Given the description of an element on the screen output the (x, y) to click on. 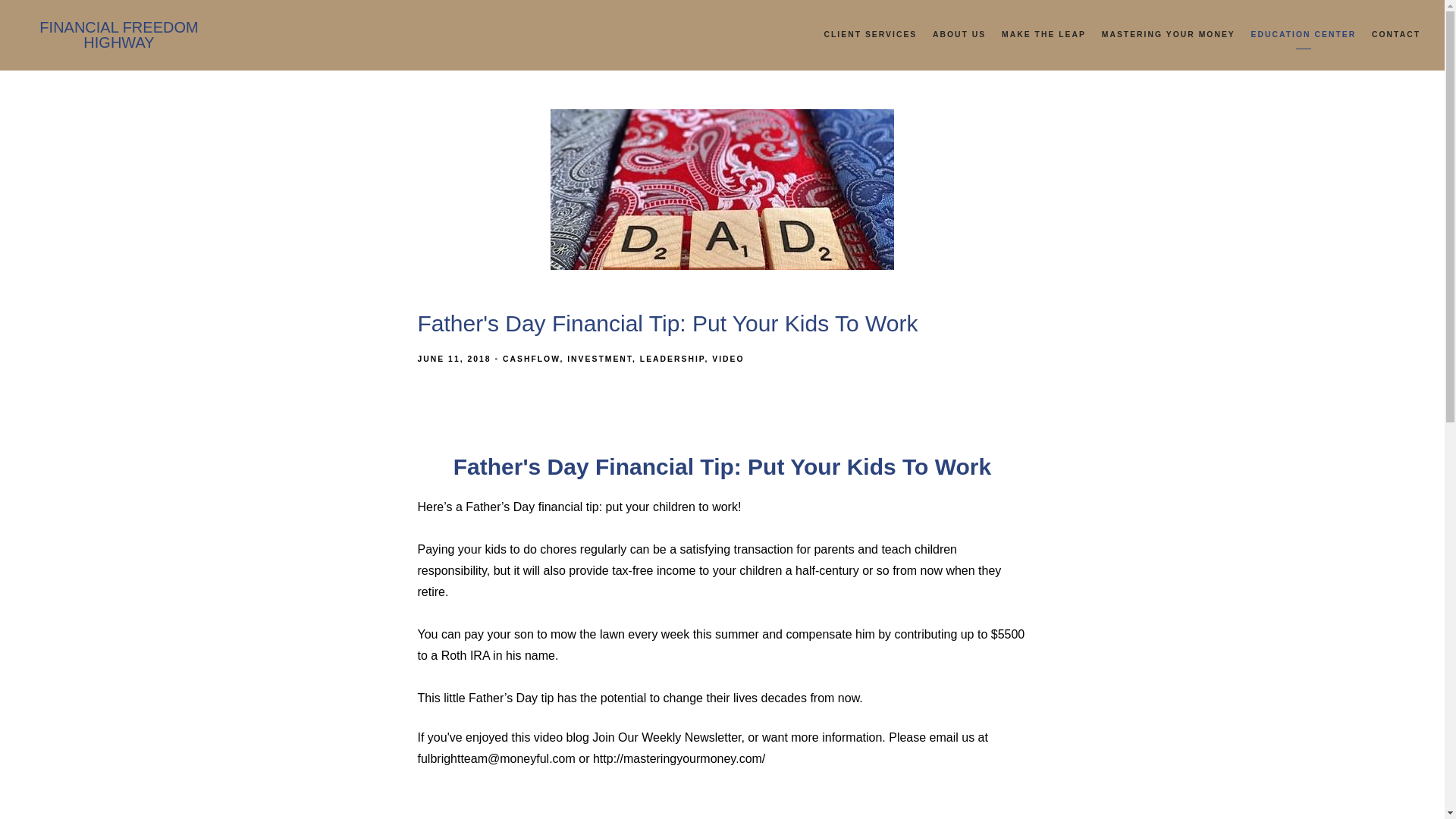
INVESTMENT (599, 358)
LEADERSHIP (672, 358)
CLIENT SERVICES (870, 34)
VIDEO (727, 358)
MAKE THE LEAP (1043, 34)
CONTACT (1396, 34)
CASHFLOW (530, 358)
FINANCIAL FREEDOM HIGHWAY (119, 34)
MASTERING YOUR MONEY (1168, 34)
EDUCATION CENTER (1303, 34)
ABOUT US (959, 34)
